Given the description of an element on the screen output the (x, y) to click on. 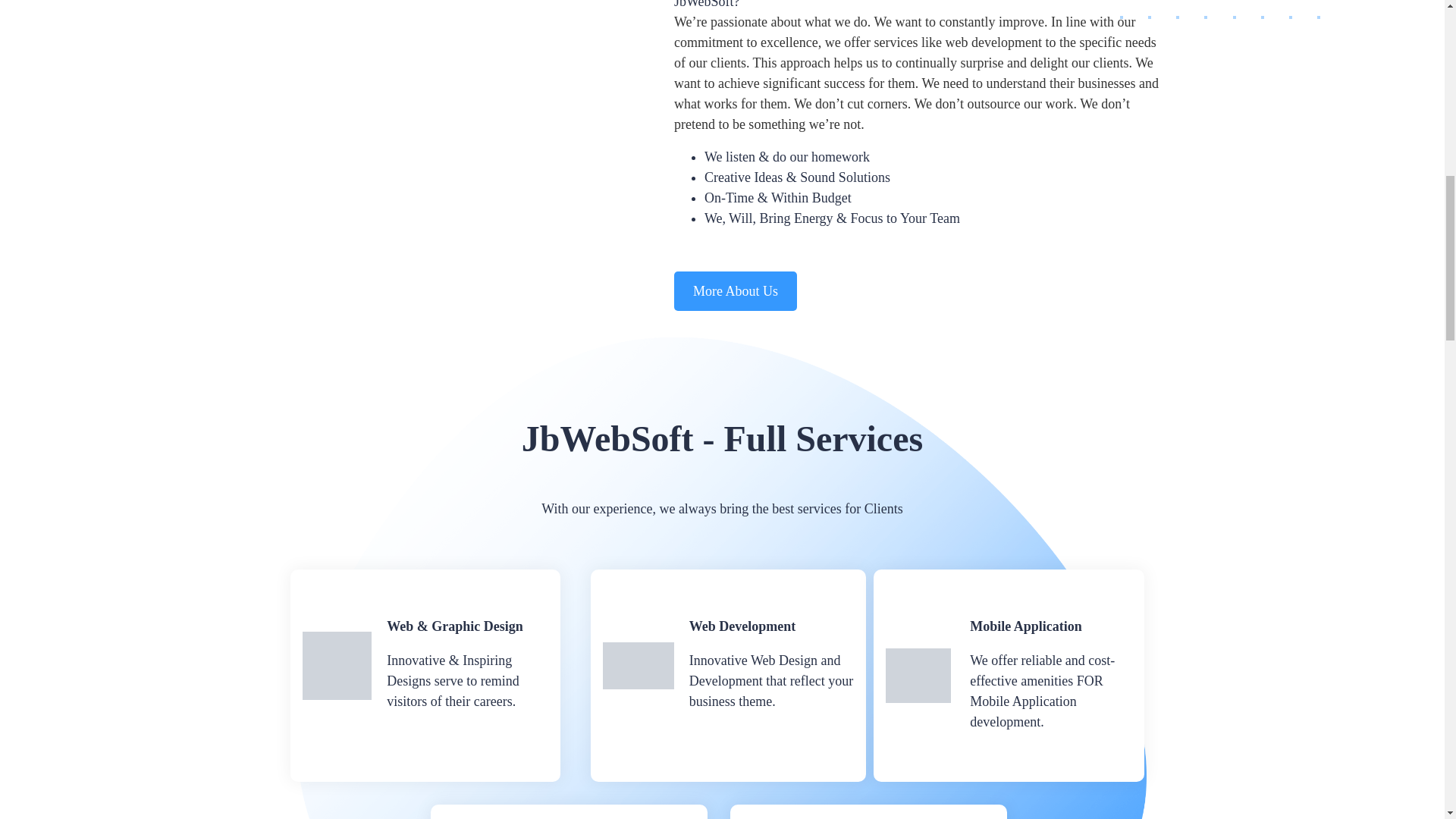
More About Us (735, 291)
